Given the description of an element on the screen output the (x, y) to click on. 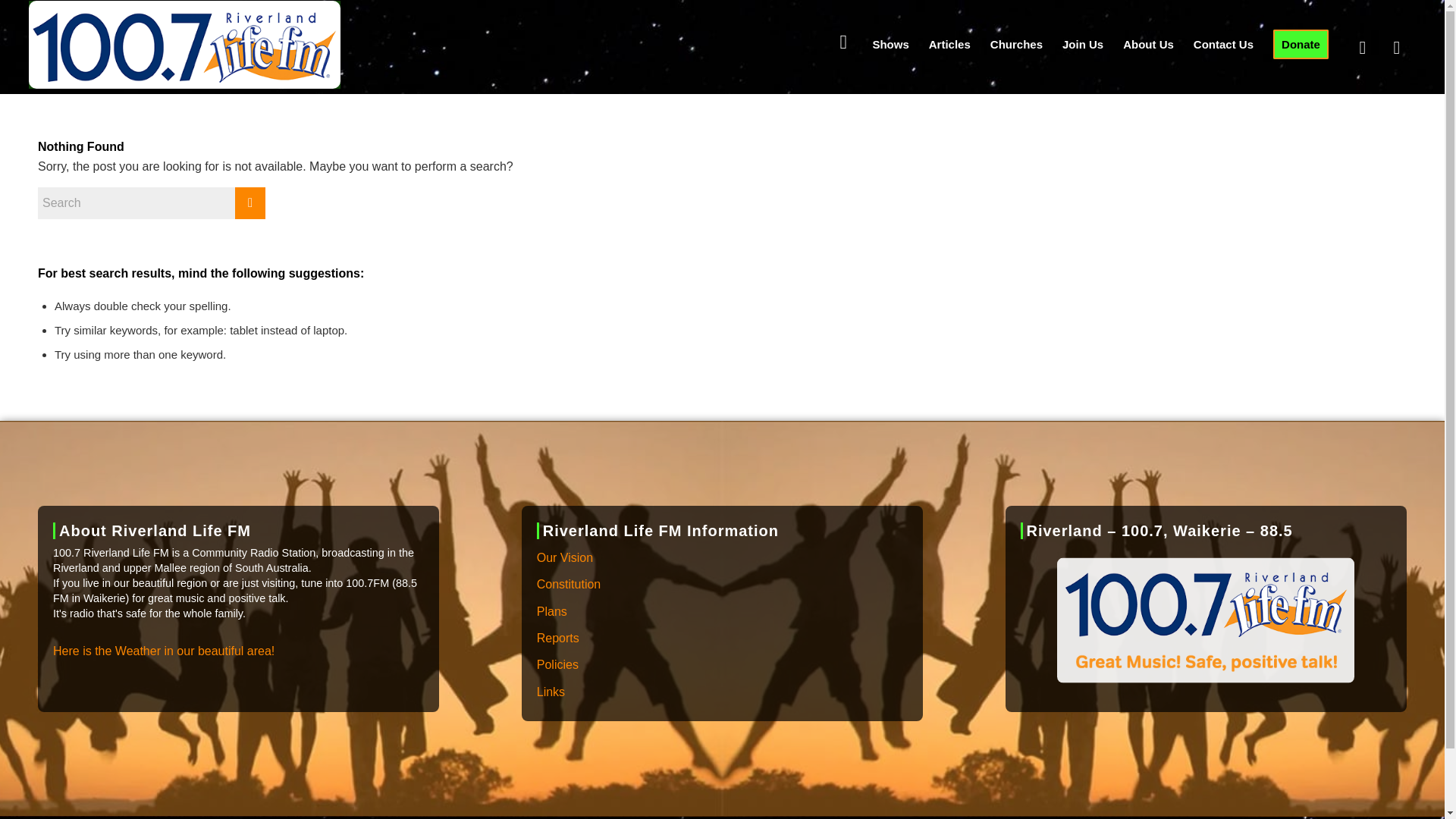
Our Vision (722, 558)
Plans (722, 611)
Constitution (722, 584)
Facebook (1362, 47)
Contact Us (1223, 44)
Instagram (1396, 47)
Here is the Weather in our beautiful area! (163, 650)
